Given the description of an element on the screen output the (x, y) to click on. 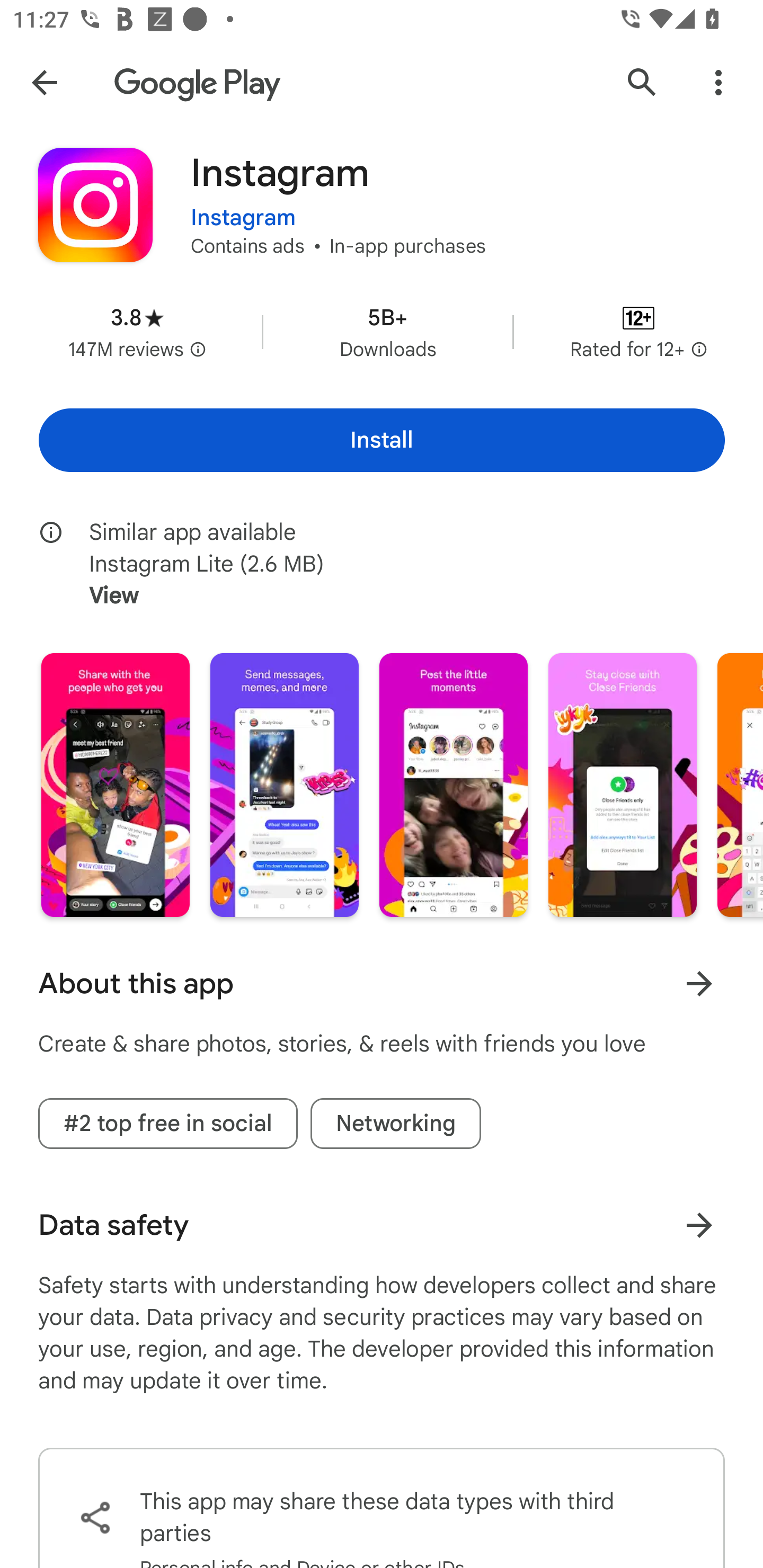
Navigate up (44, 81)
Search Google Play (642, 81)
More Options (718, 81)
Instagram (243, 206)
Average rating 3.8 stars in 147 million reviews (137, 331)
Content rating Rated for 12+ (638, 331)
Install (381, 439)
Similar app available
Instagram Lite (2.6 MB)
View (394, 563)
Screenshot "1" of "6" (115, 785)
Screenshot "2" of "6" (284, 785)
Screenshot "3" of "6" (453, 785)
Screenshot "4" of "6" (622, 785)
About this app Learn more About this app (381, 983)
Learn more About this app (699, 983)
#2 top free in social tag (167, 1123)
Networking tag (395, 1123)
Data safety Learn more about data safety (381, 1225)
Learn more about data safety (699, 1224)
